Given the description of an element on the screen output the (x, y) to click on. 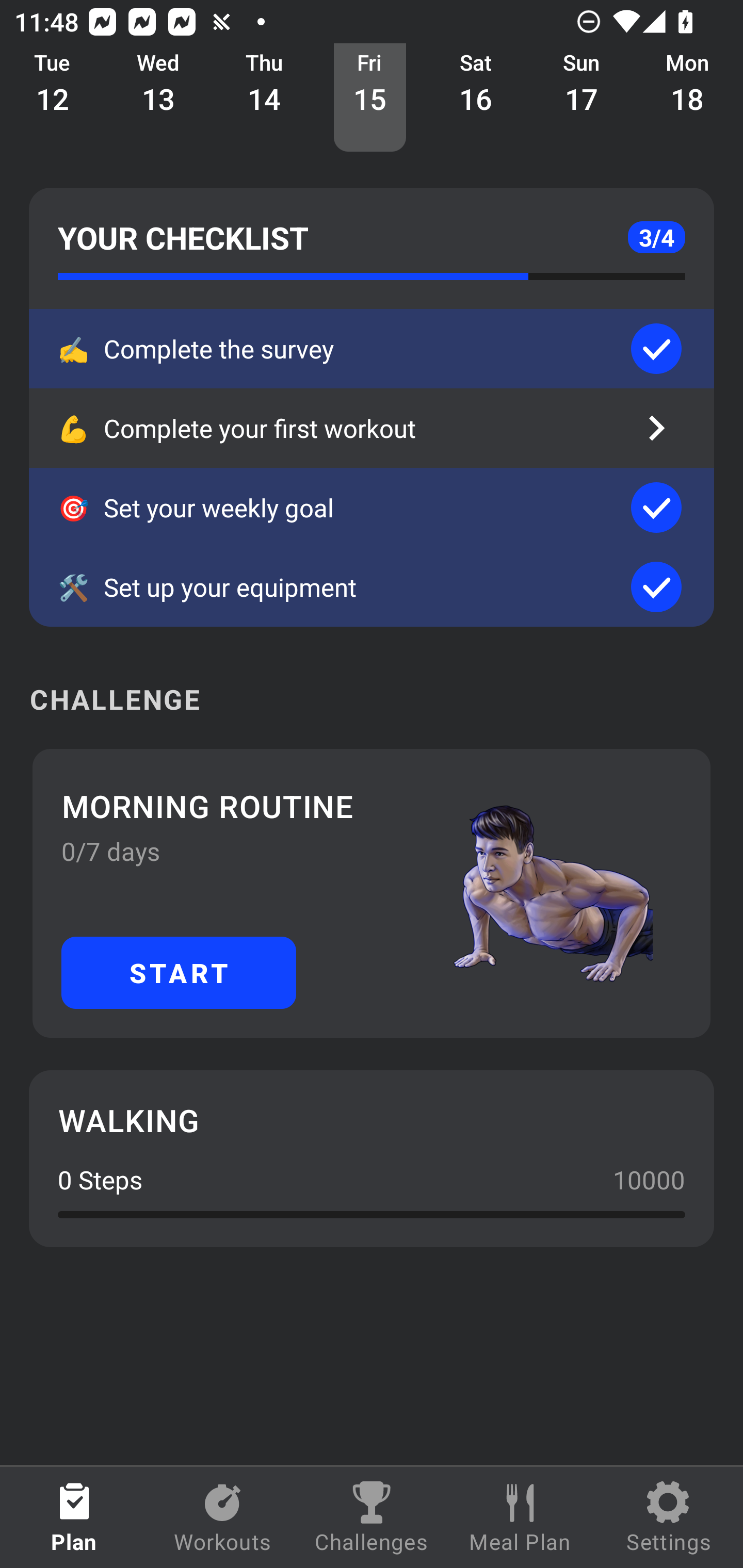
Tue 12 (52, 97)
Wed 13 (158, 97)
Thu 14 (264, 97)
Fri 15 (369, 97)
Sat 16 (475, 97)
Sun 17 (581, 97)
Mon 18 (687, 97)
💪 Complete your first workout (371, 427)
MORNING ROUTINE 0/7 days START (371, 892)
START (178, 972)
WALKING 0 Steps 10000 0.0 (371, 1158)
 Workouts  (222, 1517)
 Challenges  (371, 1517)
 Meal Plan  (519, 1517)
 Settings  (668, 1517)
